Given the description of an element on the screen output the (x, y) to click on. 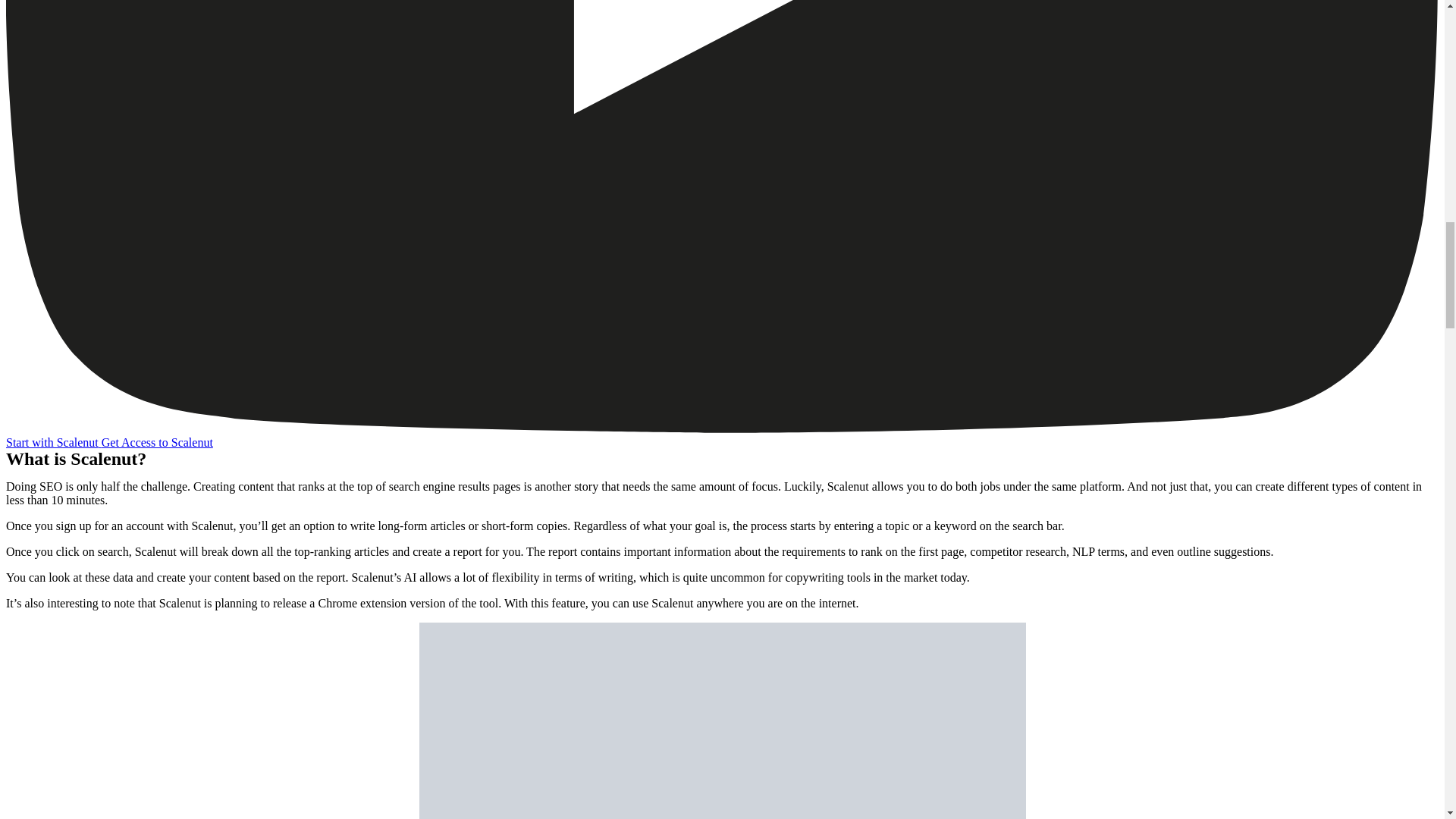
Start with Scalenut Get Access to Scalenut (108, 441)
